Given the description of an element on the screen output the (x, y) to click on. 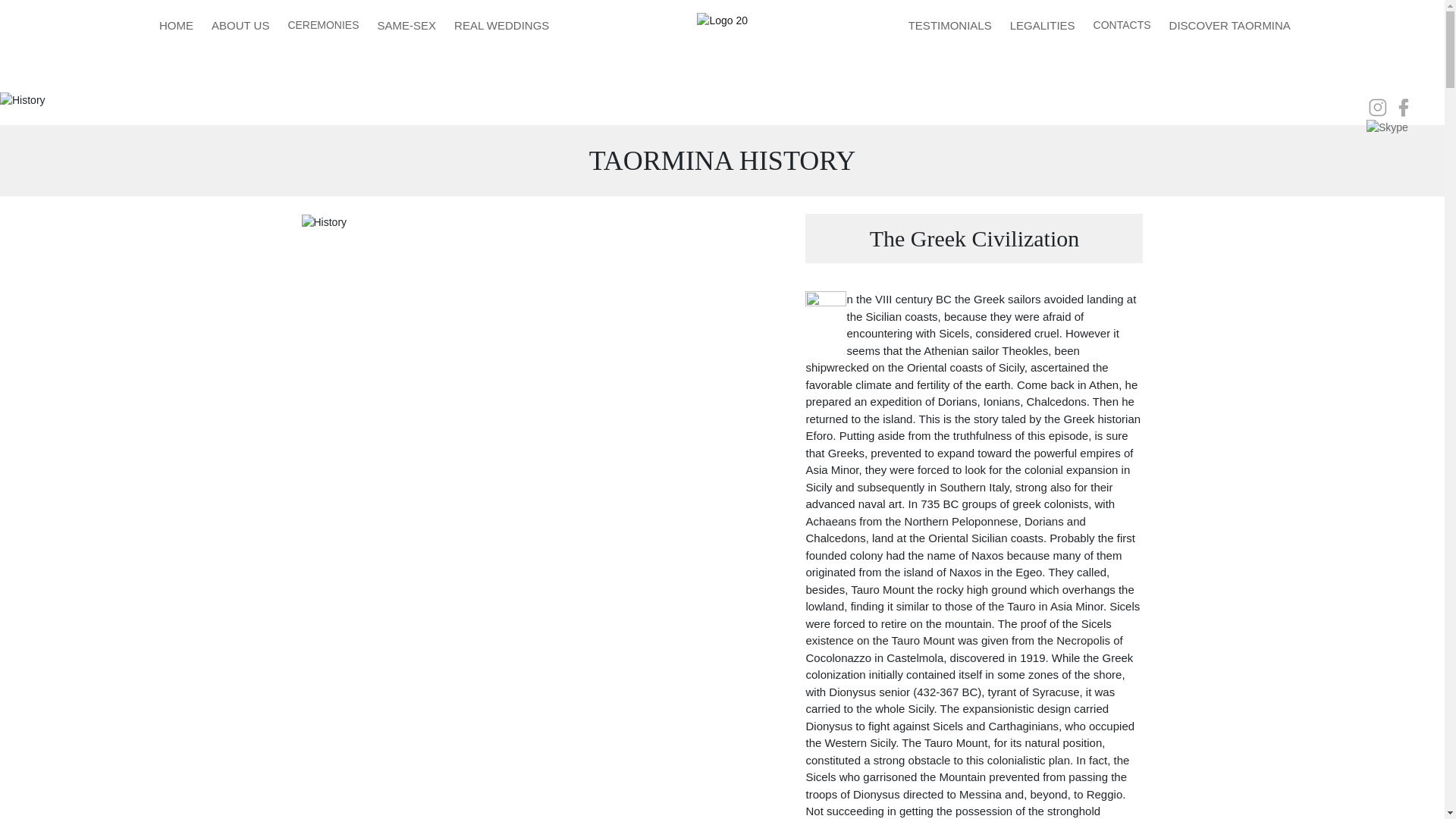
SAME-SEX (406, 24)
DISCOVER TAORMINA (1229, 24)
REAL WEDDINGS (501, 24)
ABOUT US (240, 24)
TESTIMONIALS (949, 24)
CONTACTS (1122, 19)
LEGALITIES (1042, 24)
CEREMONIES (323, 19)
